Given the description of an element on the screen output the (x, y) to click on. 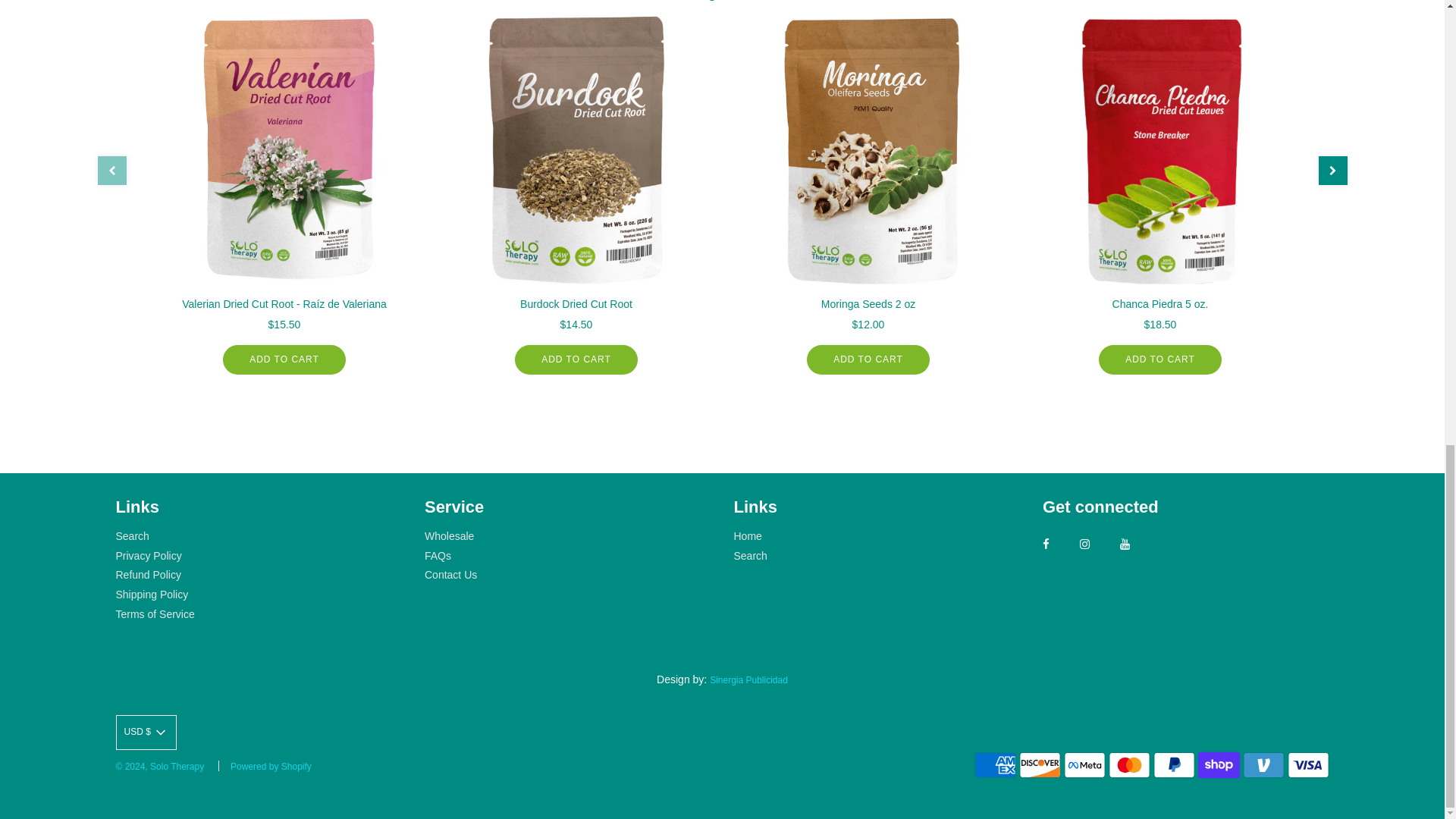
American Express (995, 765)
Chanca Piedra 5 oz. (1159, 149)
Visa (1308, 765)
Shop Pay (1219, 765)
Mastercard (1129, 765)
Burdock Dried Cut Root (575, 149)
Discover (1040, 765)
Moringa Seeds 2 oz (868, 149)
Venmo (1263, 765)
PayPal (1174, 765)
